Given the description of an element on the screen output the (x, y) to click on. 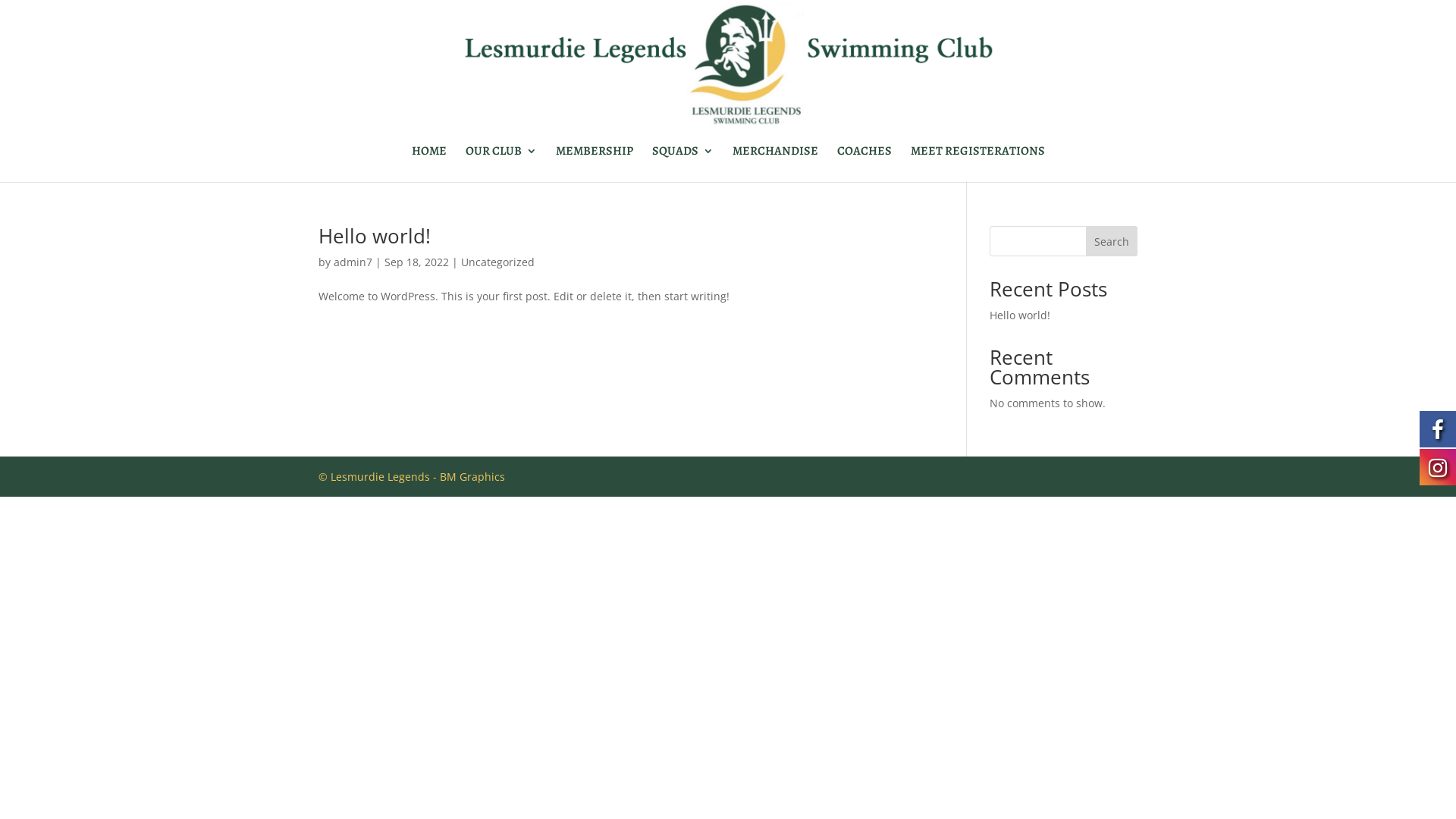
MERCHANDISE Element type: text (775, 163)
OUR CLUB Element type: text (500, 163)
MEMBERSHIP Element type: text (593, 163)
Search Element type: text (1111, 240)
SQUADS Element type: text (682, 163)
admin7 Element type: text (352, 261)
Uncategorized Element type: text (497, 261)
Hello world! Element type: text (1019, 314)
Hello world! Element type: text (374, 235)
MEET REGISTERATIONS Element type: text (977, 163)
COACHES Element type: text (864, 163)
HOME Element type: text (428, 163)
